Given the description of an element on the screen output the (x, y) to click on. 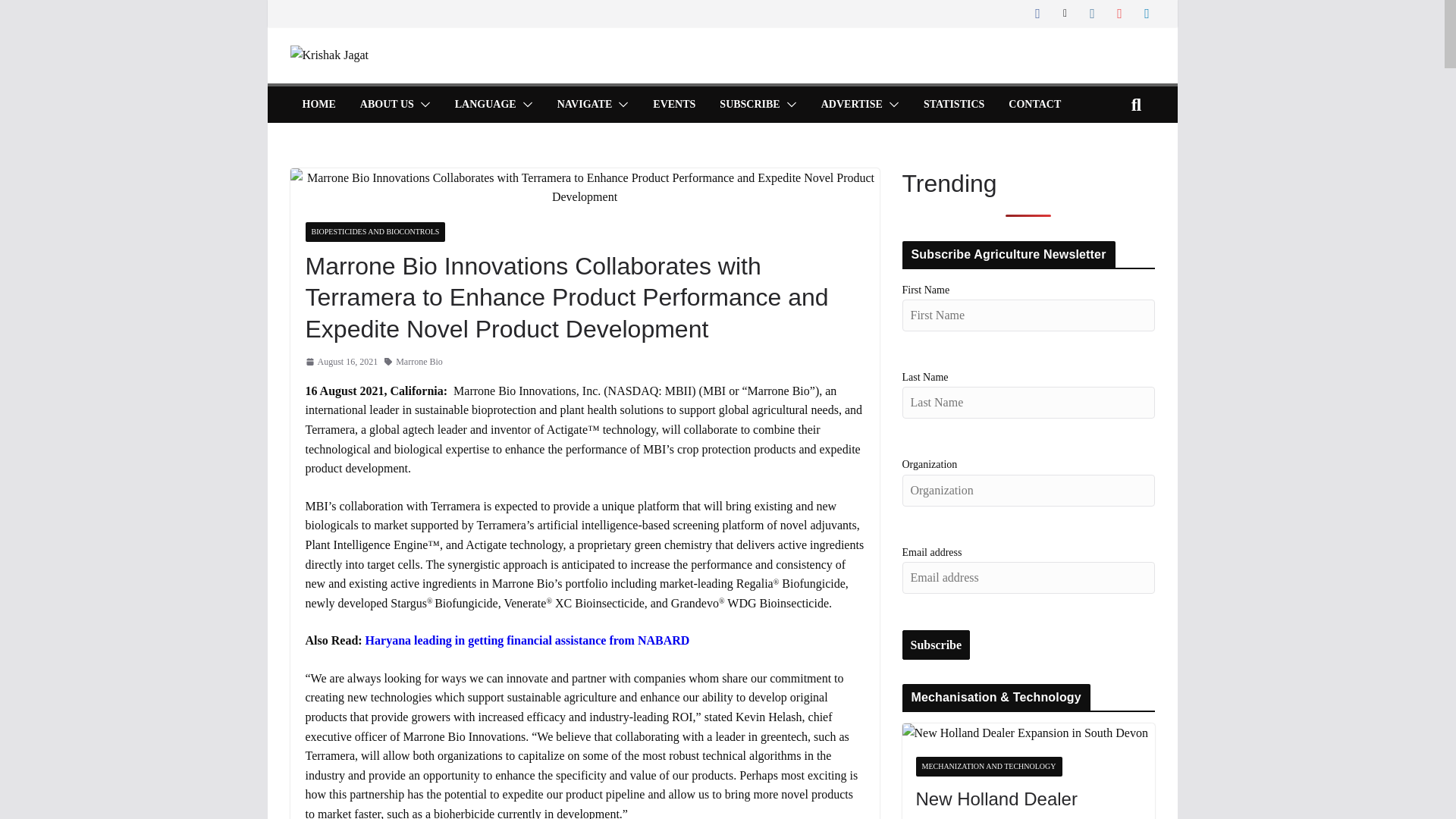
LANGUAGE (485, 104)
NAVIGATE (584, 104)
HOME (317, 104)
Subscribe (936, 644)
ABOUT US (386, 104)
SUBSCRIBE (748, 104)
9:22 pm (340, 361)
ADVERTISE (851, 104)
EVENTS (673, 104)
